Given the description of an element on the screen output the (x, y) to click on. 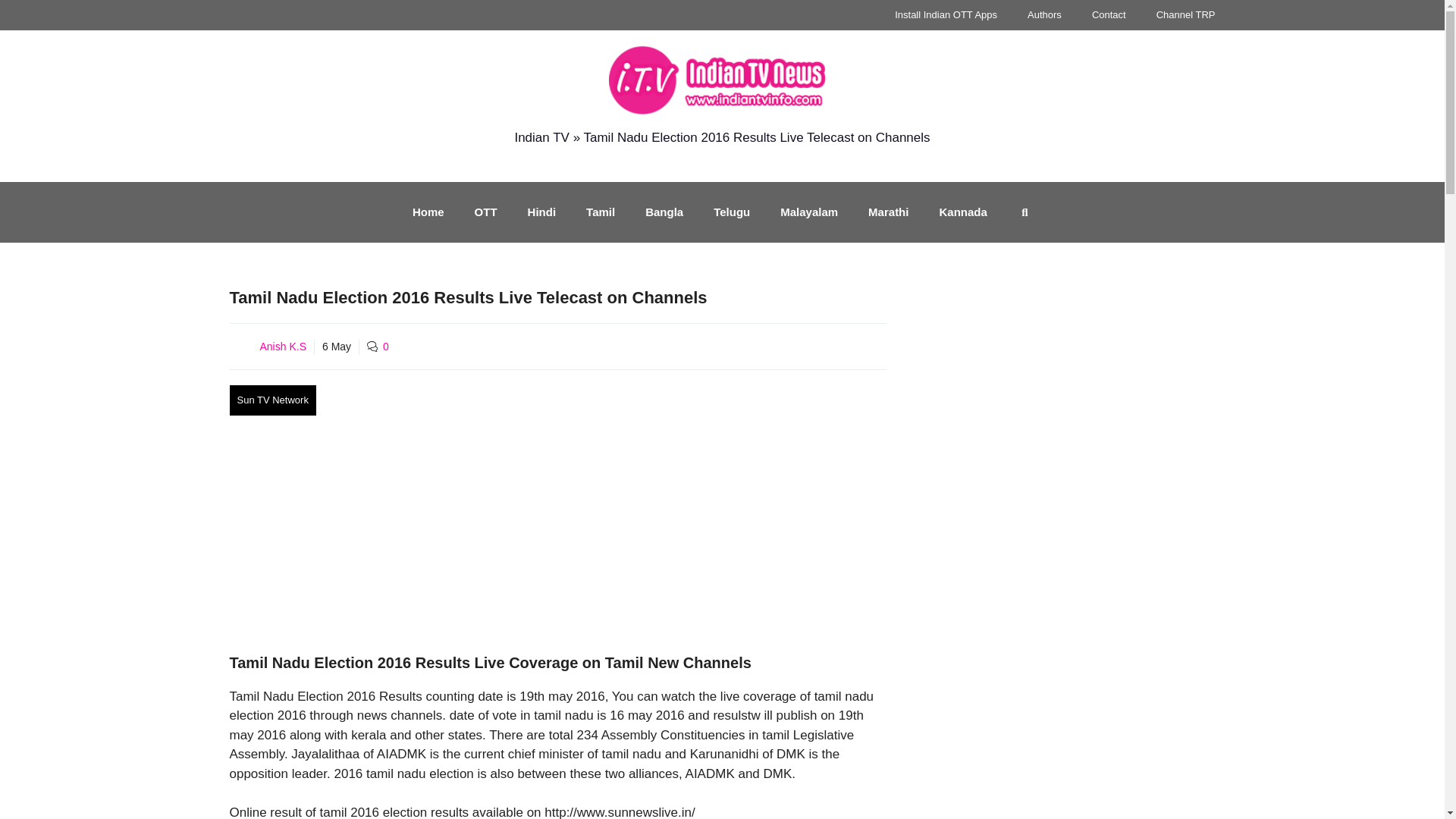
Telugu (731, 211)
Tamil (600, 211)
Indian Television News Authors (1044, 15)
Sun TV Network (271, 399)
Hindi (542, 211)
Bangla (664, 211)
Install Indian OTT Apps (945, 15)
Download Free Indian OTT Apps (945, 15)
Kannada (962, 211)
Latest Television Rating Points (1185, 15)
Malayalam (809, 211)
Anish K.S (282, 346)
Home (428, 211)
Indian TV (541, 137)
Marathi (888, 211)
